Given the description of an element on the screen output the (x, y) to click on. 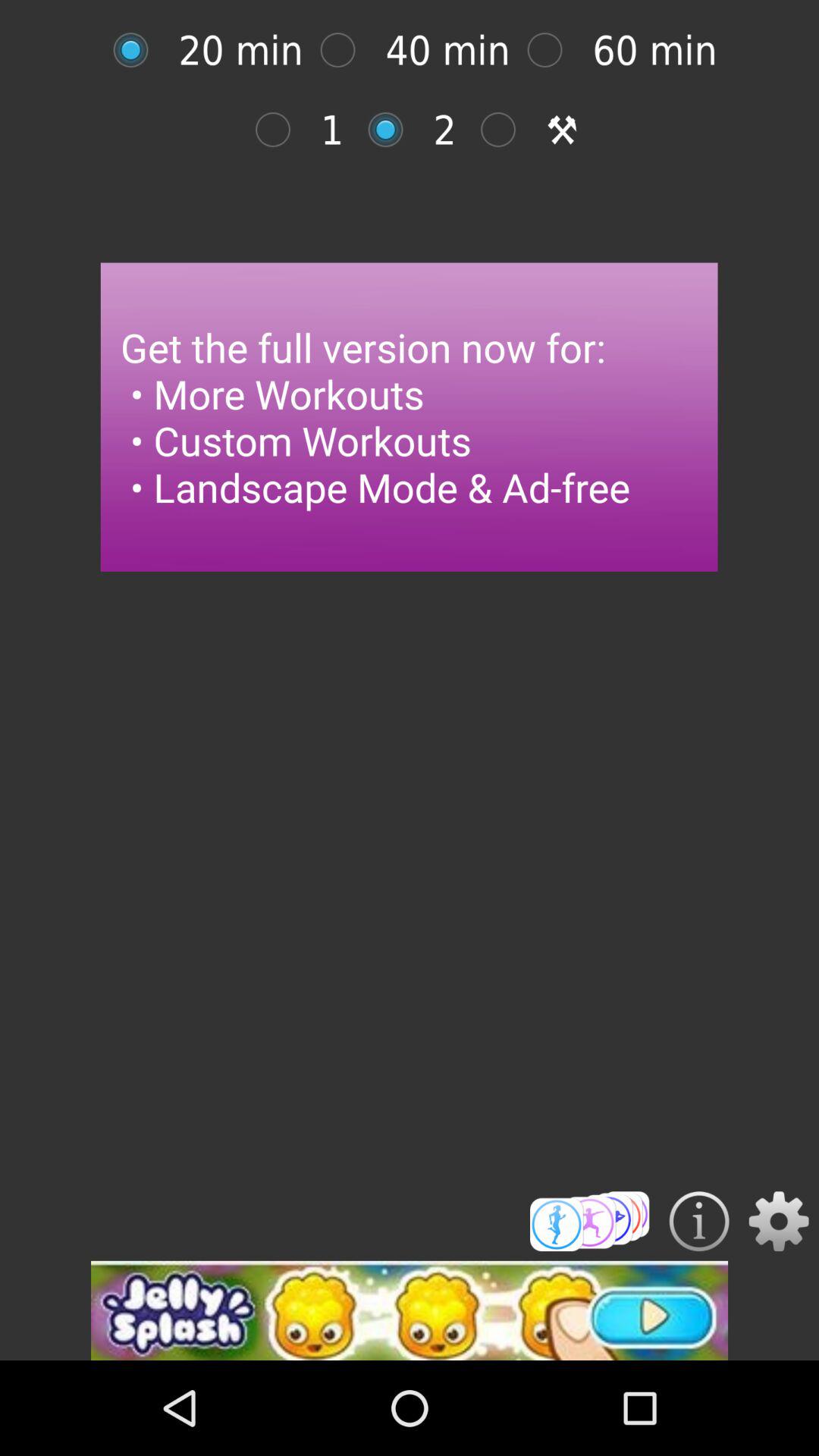
advertisement bar (409, 1310)
